Given the description of an element on the screen output the (x, y) to click on. 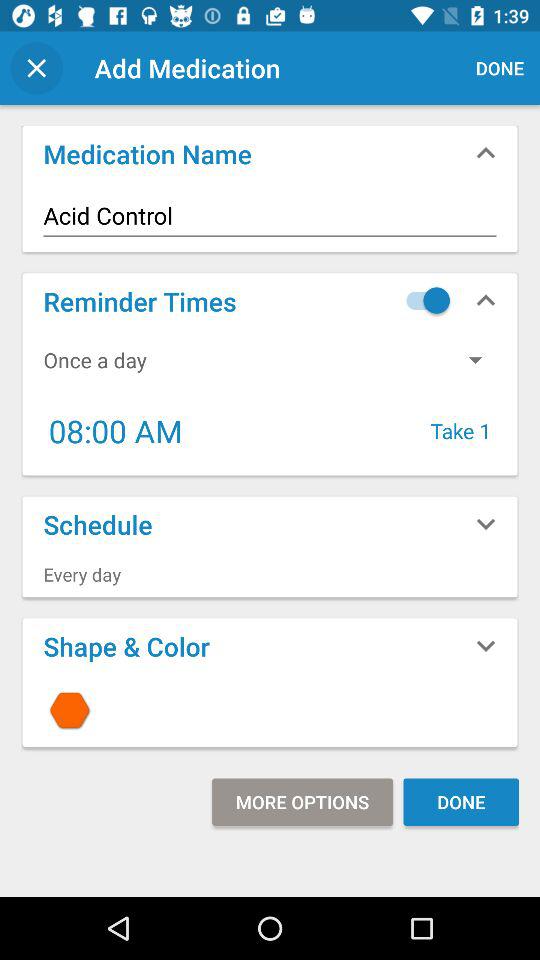
tap item below acid control (423, 300)
